Given the description of an element on the screen output the (x, y) to click on. 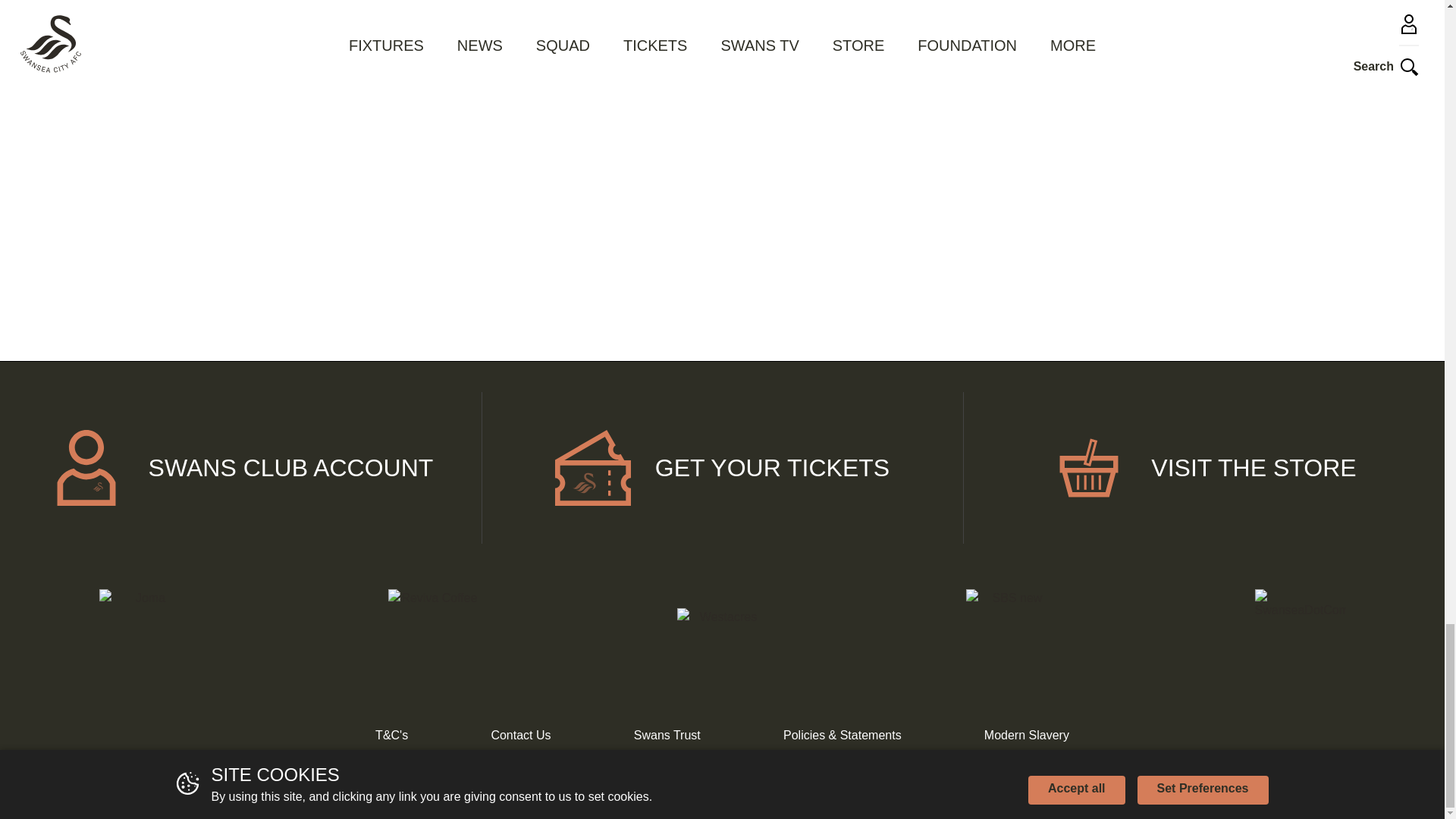
3rd party ad content (357, 191)
Sign up or log into Swans Club Account (240, 467)
Swansea sponsor (722, 634)
Swansea sponsor (1299, 634)
3rd party ad content (1085, 191)
3rd party ad content (357, 36)
3rd party ad content (721, 191)
3rd party ad content (1085, 36)
3rd party ad content (721, 36)
Swansea sponsor (432, 634)
